Given the description of an element on the screen output the (x, y) to click on. 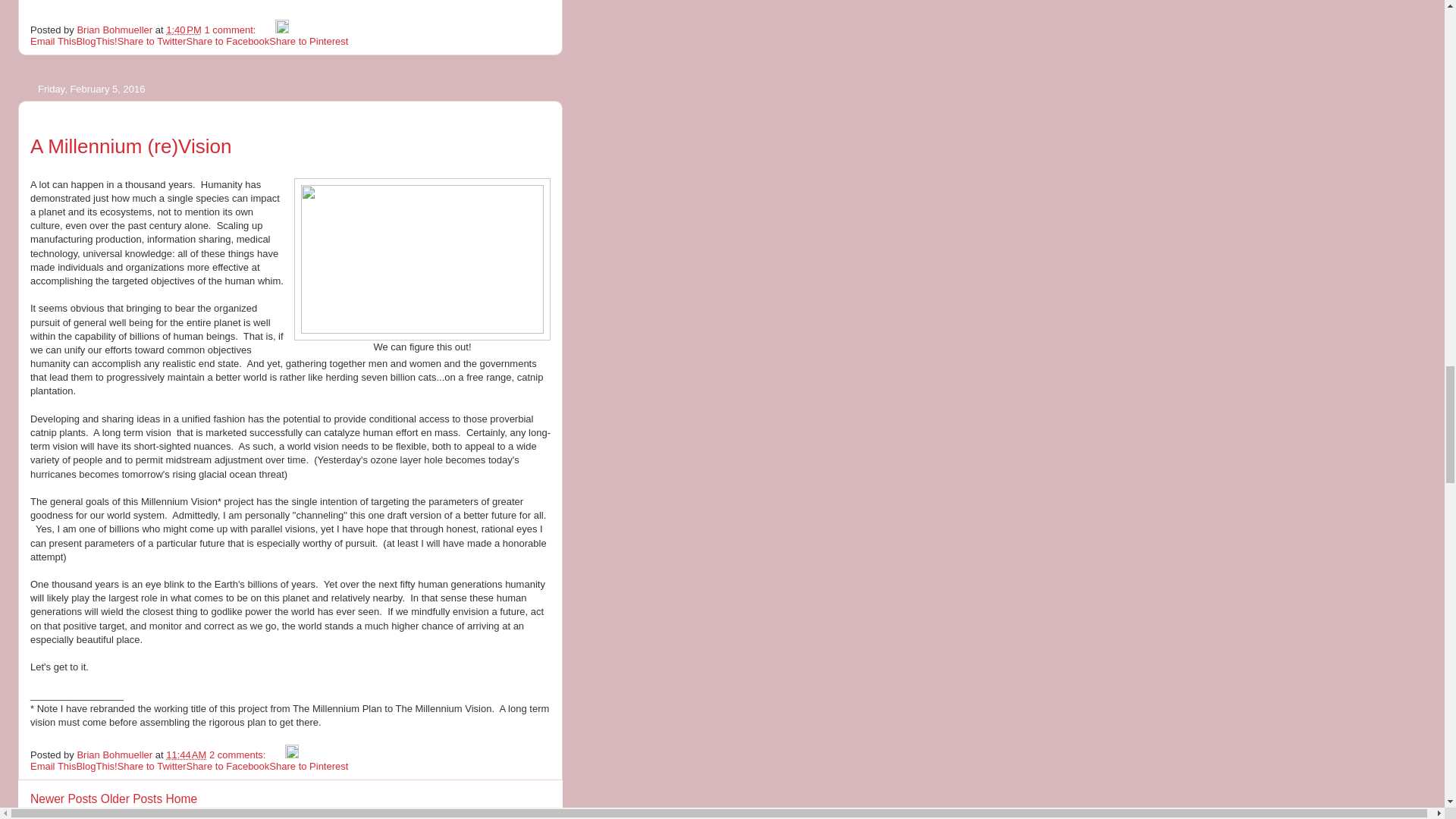
Share to Facebook (227, 41)
Brian Bohmueller (115, 30)
Email Post (267, 30)
author profile (115, 30)
Edit Post (281, 30)
Share to Pinterest (308, 41)
1 comment: (231, 30)
Email This (52, 41)
Email This (52, 41)
permanent link (183, 30)
Brian Bohmueller (115, 754)
Share to Twitter (151, 41)
2 comments: (238, 754)
